Given the description of an element on the screen output the (x, y) to click on. 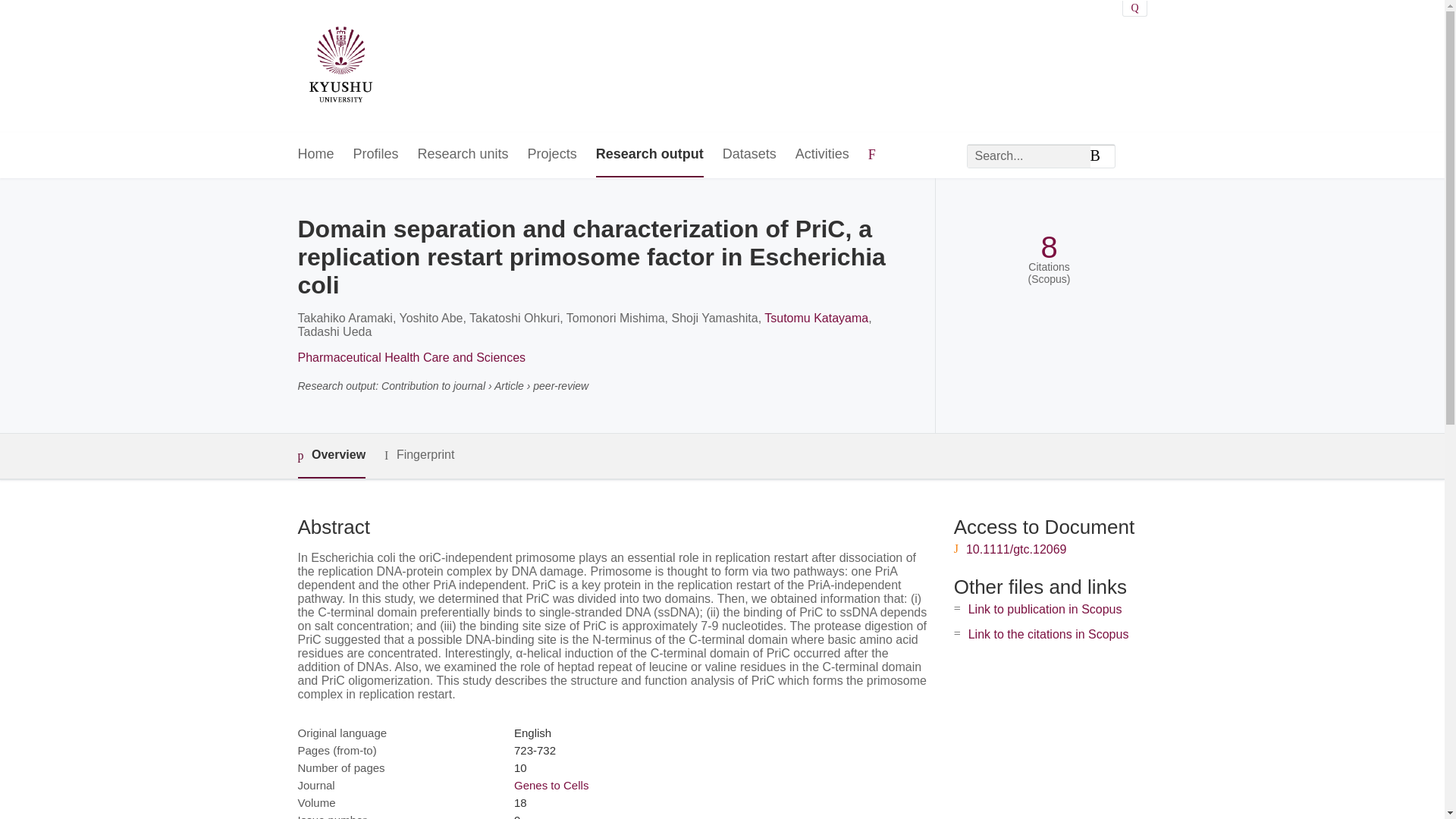
Datasets (749, 154)
Link to the citations in Scopus (1048, 634)
Research units (462, 154)
Activities (821, 154)
Research output (649, 154)
Overview (331, 456)
Tsutomu Katayama (815, 318)
Fingerprint (419, 455)
Link to publication in Scopus (1045, 608)
